Given the description of an element on the screen output the (x, y) to click on. 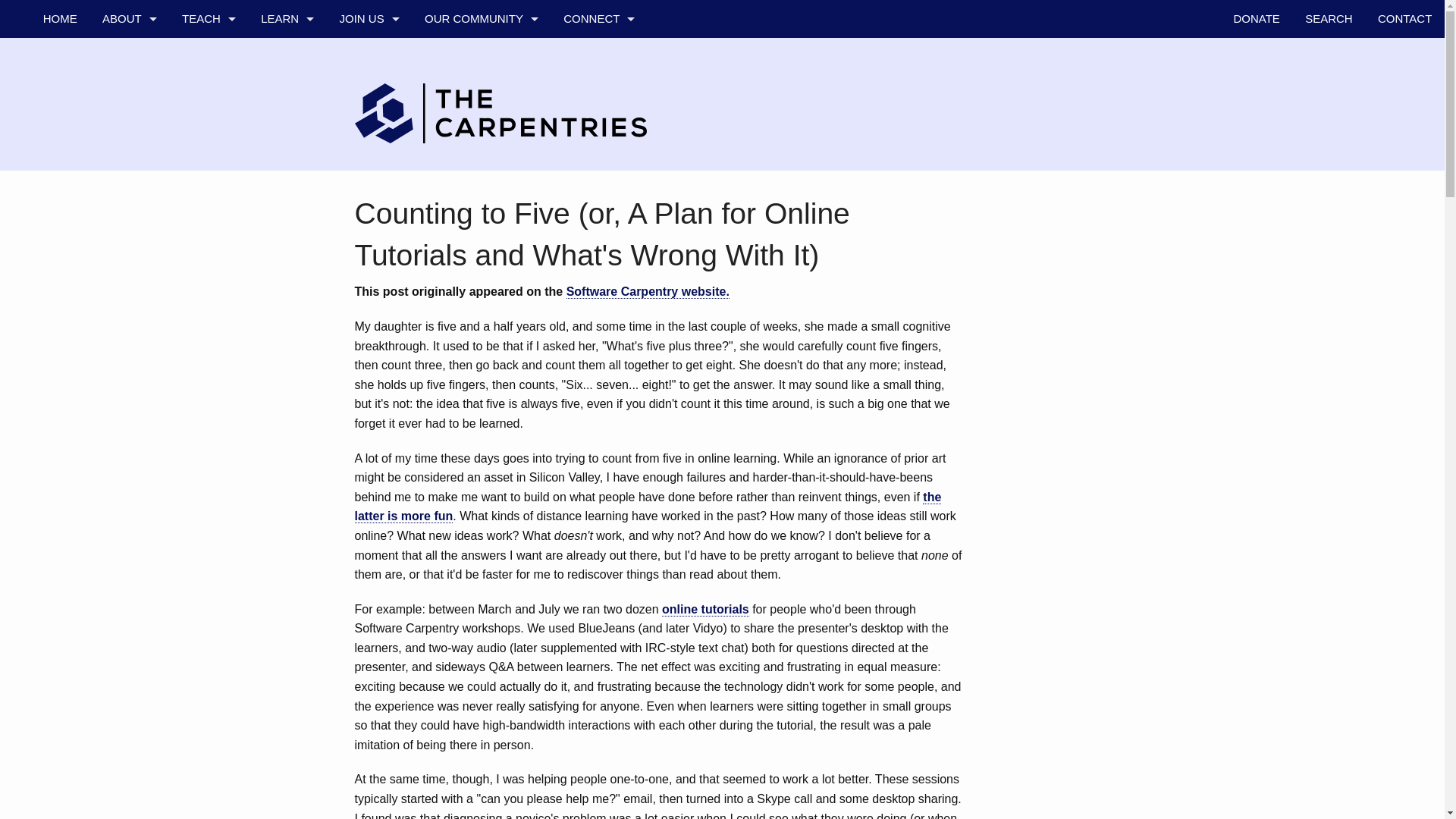
OUR IMPACT (286, 208)
ONLINE WORKSHOP RECOMMENDATIONS (207, 322)
OUR WORKSHOPS (286, 56)
JOIN US (369, 18)
JOB VACANCIES (369, 208)
OUR CURRICULA (286, 94)
SOFTWARE CARPENTRY LESSONS (207, 132)
SEARCH (1328, 18)
COMMUNITY OVERVIEW (481, 94)
BECOME A MEMBER ORGANISATION (369, 132)
SUPPORTERS (128, 208)
FOR INSTRUCTORS (207, 284)
DATA CARPENTRY LESSONS (207, 94)
HOME (59, 18)
EQUITY, INCLUSION, AND ACCESSIBILITY (128, 322)
